Given the description of an element on the screen output the (x, y) to click on. 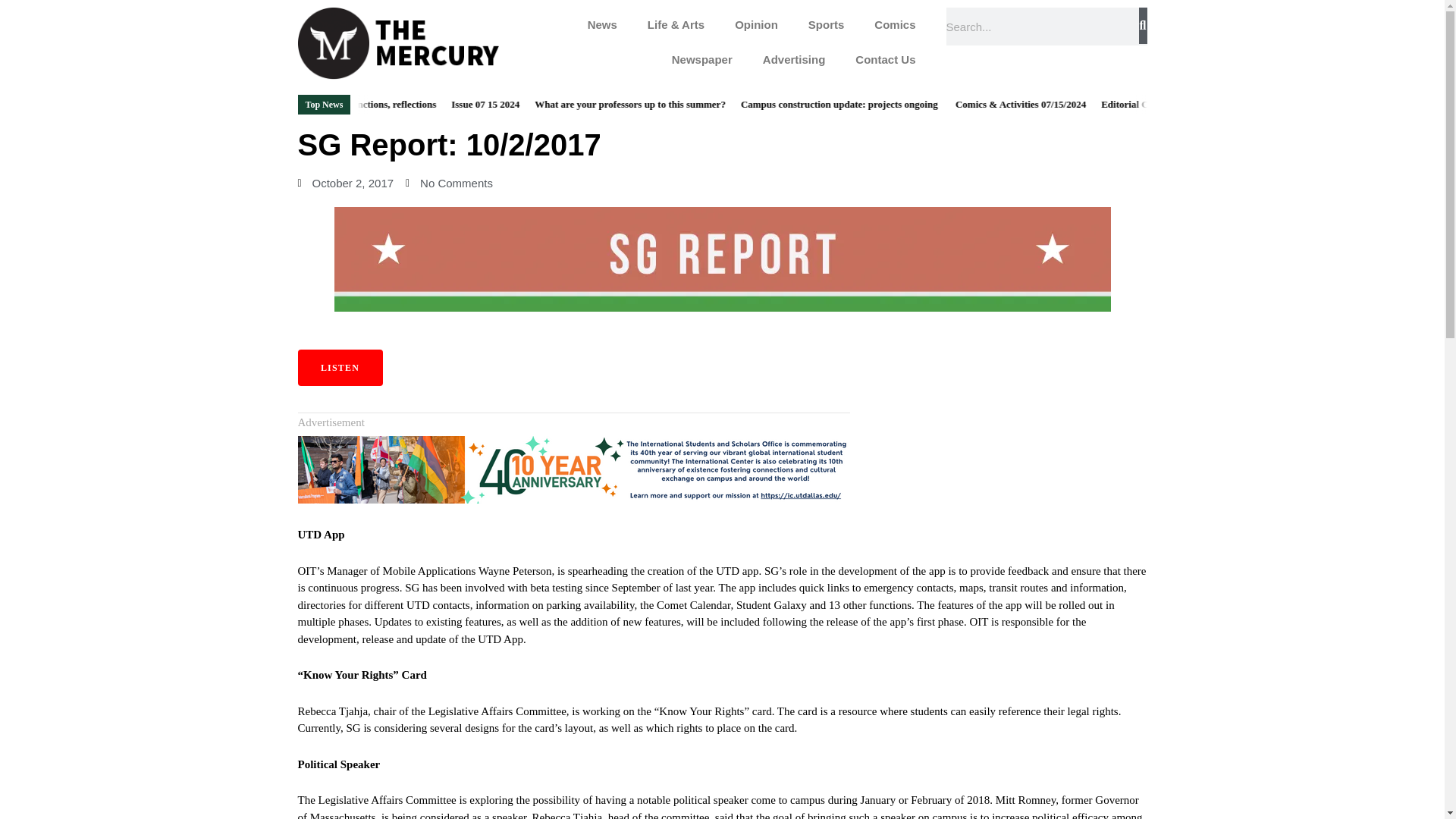
Text To Audio:  Tap to listen post. (339, 367)
Opinion: Sanctions, reflections (406, 103)
Contact Us (885, 59)
Editorial Comic 07 15 2024 (1190, 103)
News (601, 24)
Sports (826, 24)
Comics (894, 24)
What are your professors up to this summer? (664, 103)
Advertising (794, 59)
Issue 07 15 2024 (520, 103)
